Given the description of an element on the screen output the (x, y) to click on. 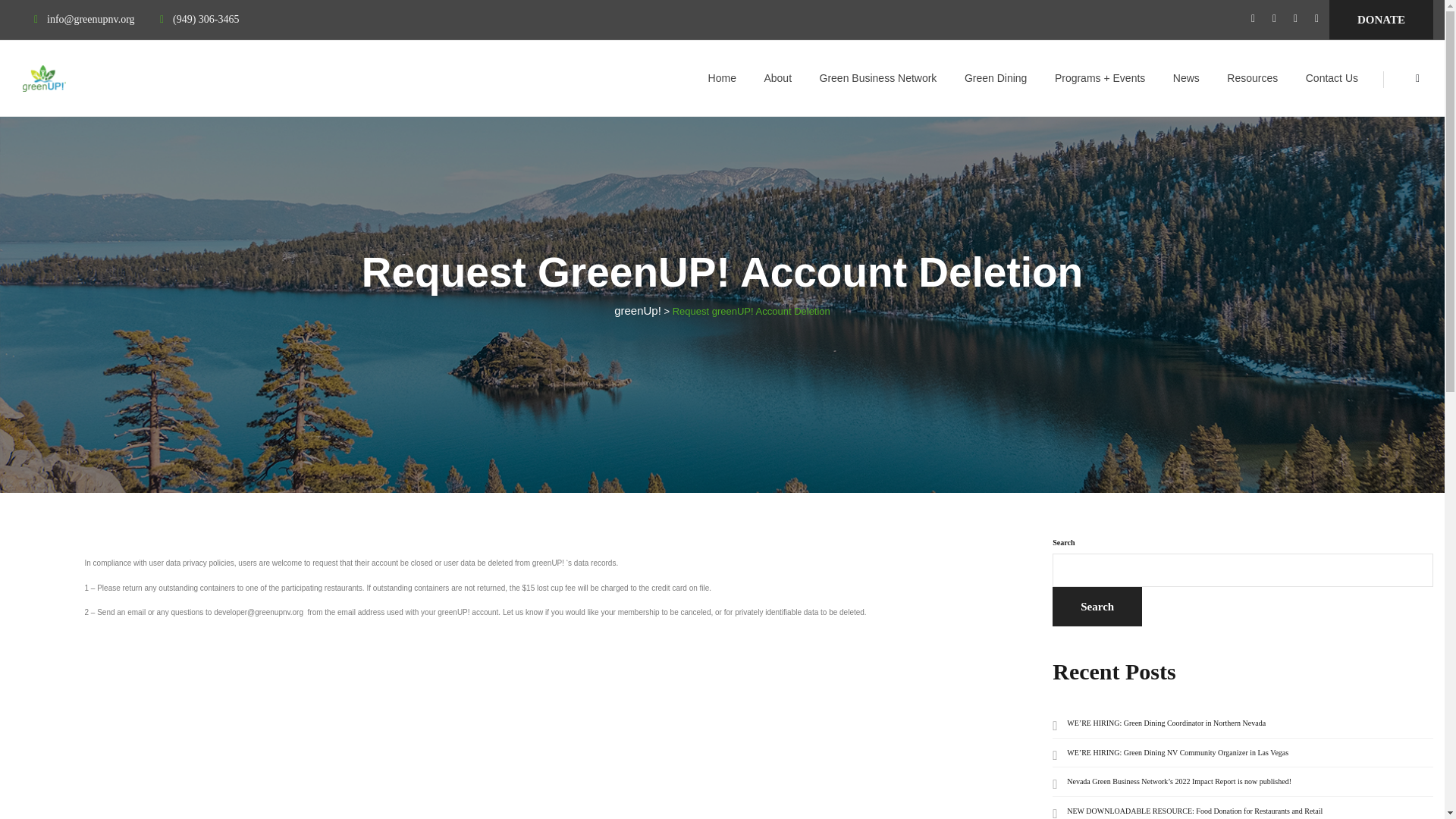
DONATE (1380, 19)
DONATE (1380, 19)
Go to greenUp!. (637, 309)
greenUp! (69, 78)
Resources (1252, 78)
greenUp! (637, 309)
Green Dining (996, 78)
Search (1096, 606)
Green Business Network (878, 78)
Contact Us (1331, 78)
